Given the description of an element on the screen output the (x, y) to click on. 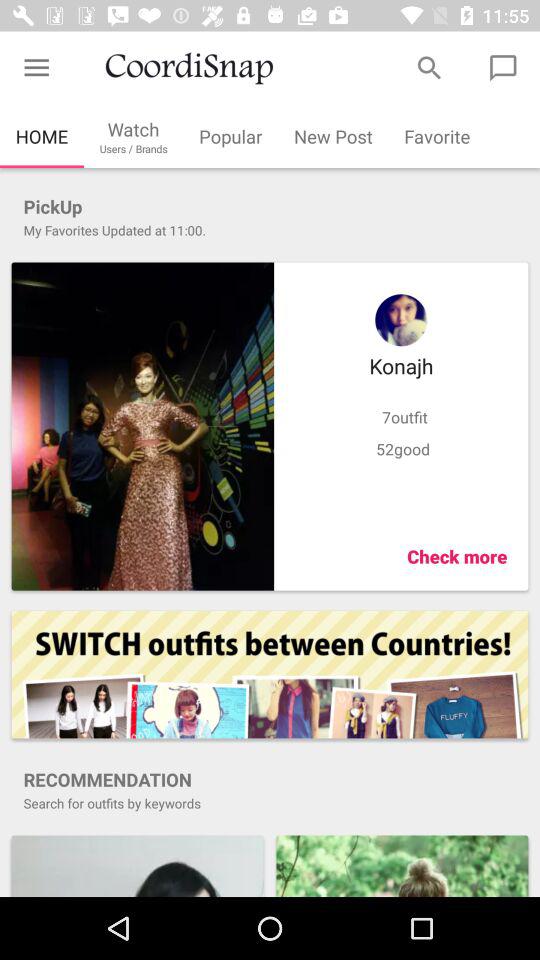
photo (142, 426)
